Given the description of an element on the screen output the (x, y) to click on. 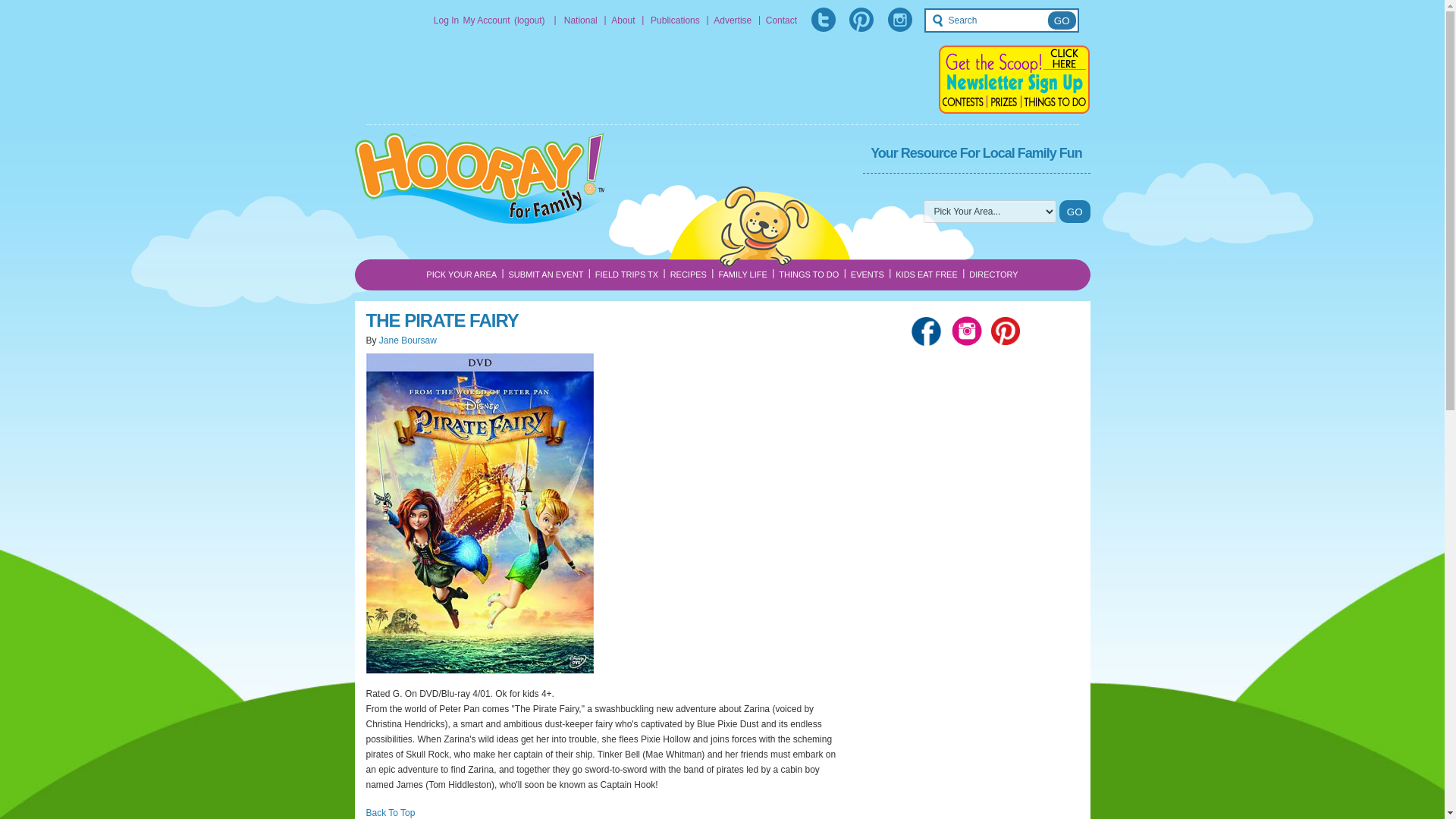
Go (1061, 20)
Go (1061, 20)
My Account (487, 20)
RECIPES (688, 274)
Log In (445, 20)
Advertise (732, 20)
Publications (675, 20)
SUBMIT AN EVENT (546, 274)
Go (1074, 210)
Contact (780, 20)
About (622, 20)
FIELD TRIPS TX (626, 274)
Go (1074, 210)
National (580, 20)
PICK YOUR AREA (461, 274)
